Given the description of an element on the screen output the (x, y) to click on. 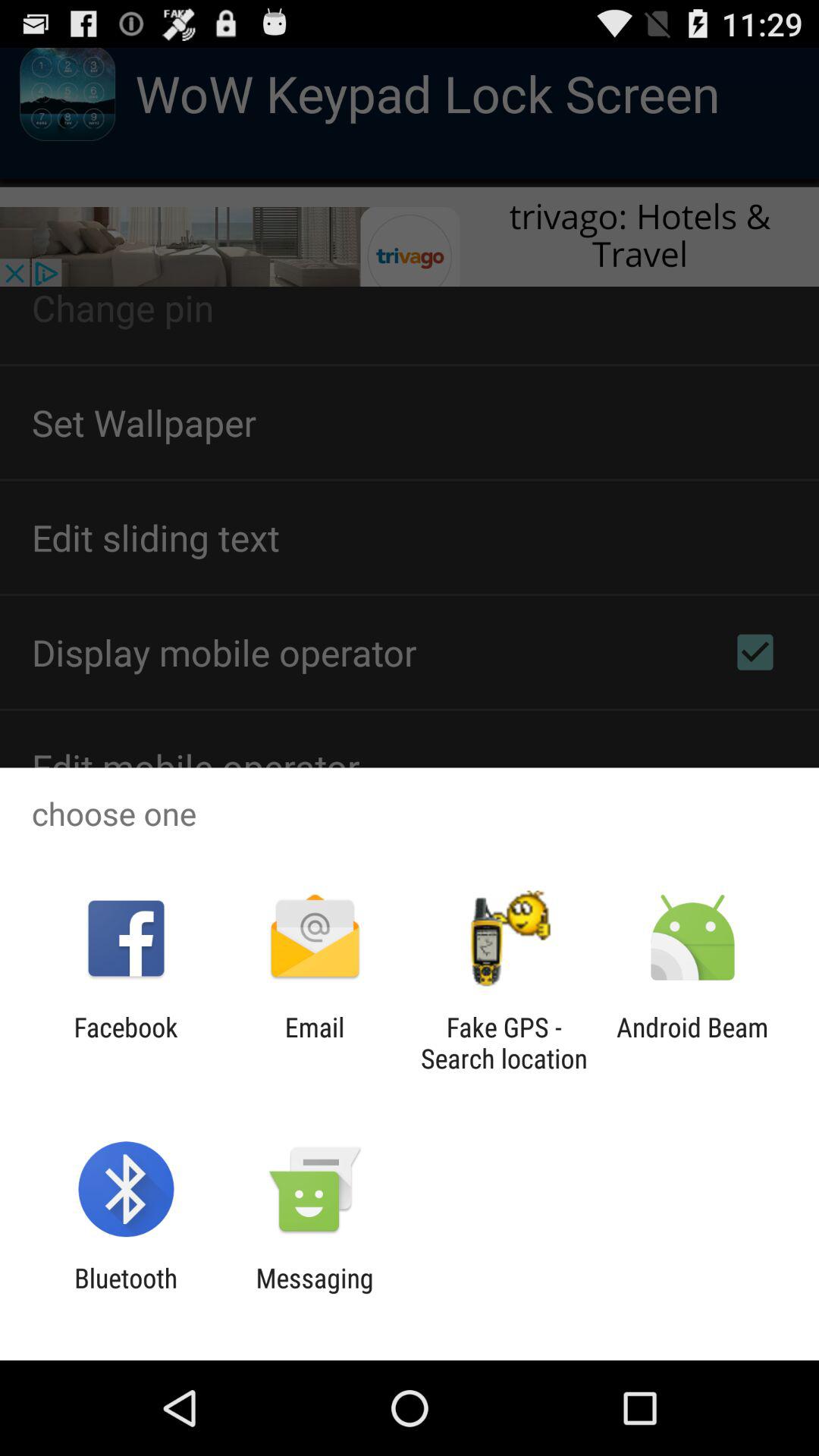
select messaging app (314, 1293)
